Given the description of an element on the screen output the (x, y) to click on. 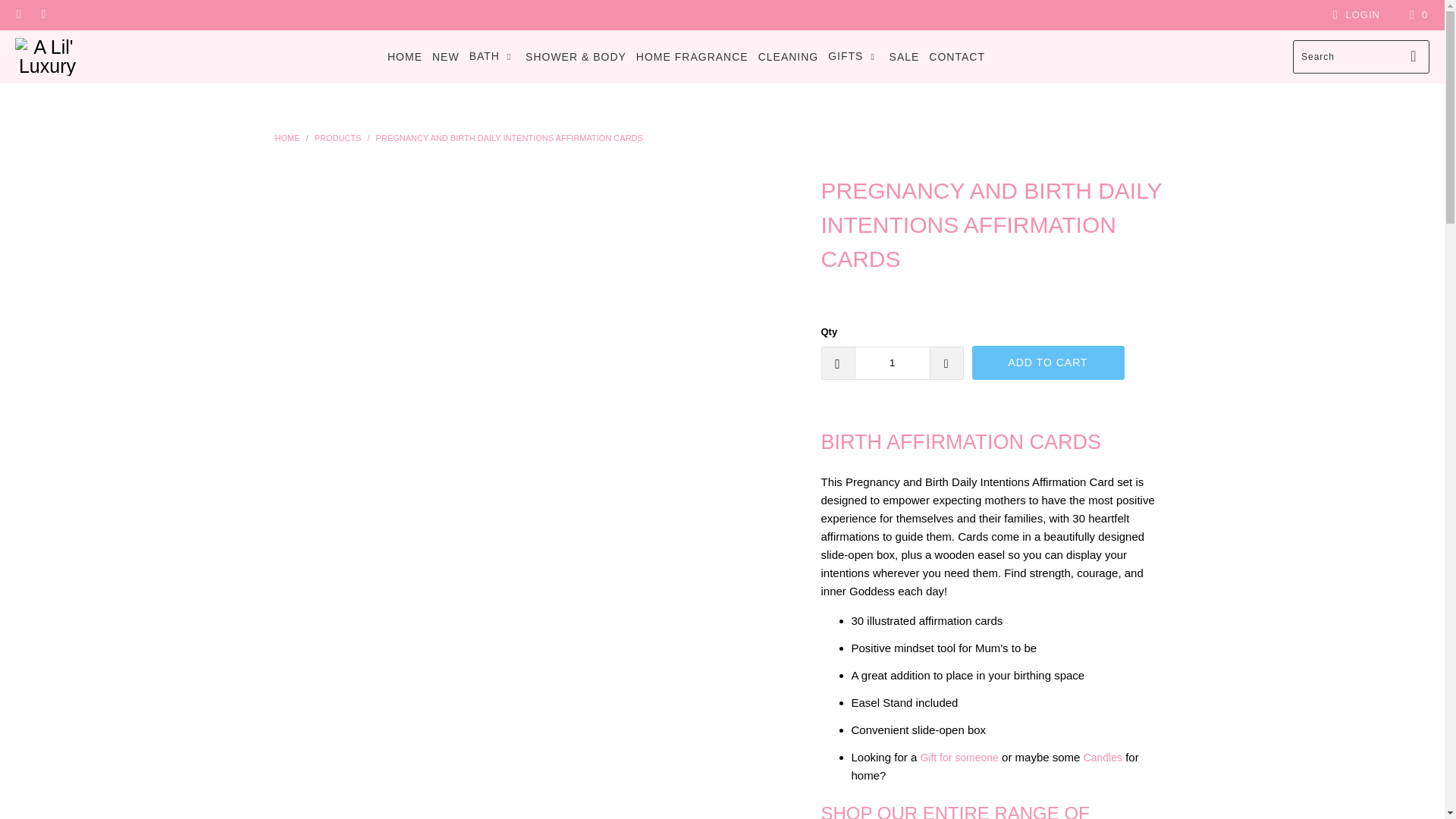
My Account  (1353, 14)
A Lil' Luxury (47, 56)
Products (337, 137)
LOGIN (1353, 14)
A Lil' Luxury on Facebook (17, 14)
A Lil' Luxury (287, 137)
HOME (404, 56)
A Lil' Luxury on Instagram (42, 14)
Candles for the bedroom - A Lil Luxury (1102, 757)
Gifts for Everyone in Australia - A Lil Luxury (959, 757)
